Given the description of an element on the screen output the (x, y) to click on. 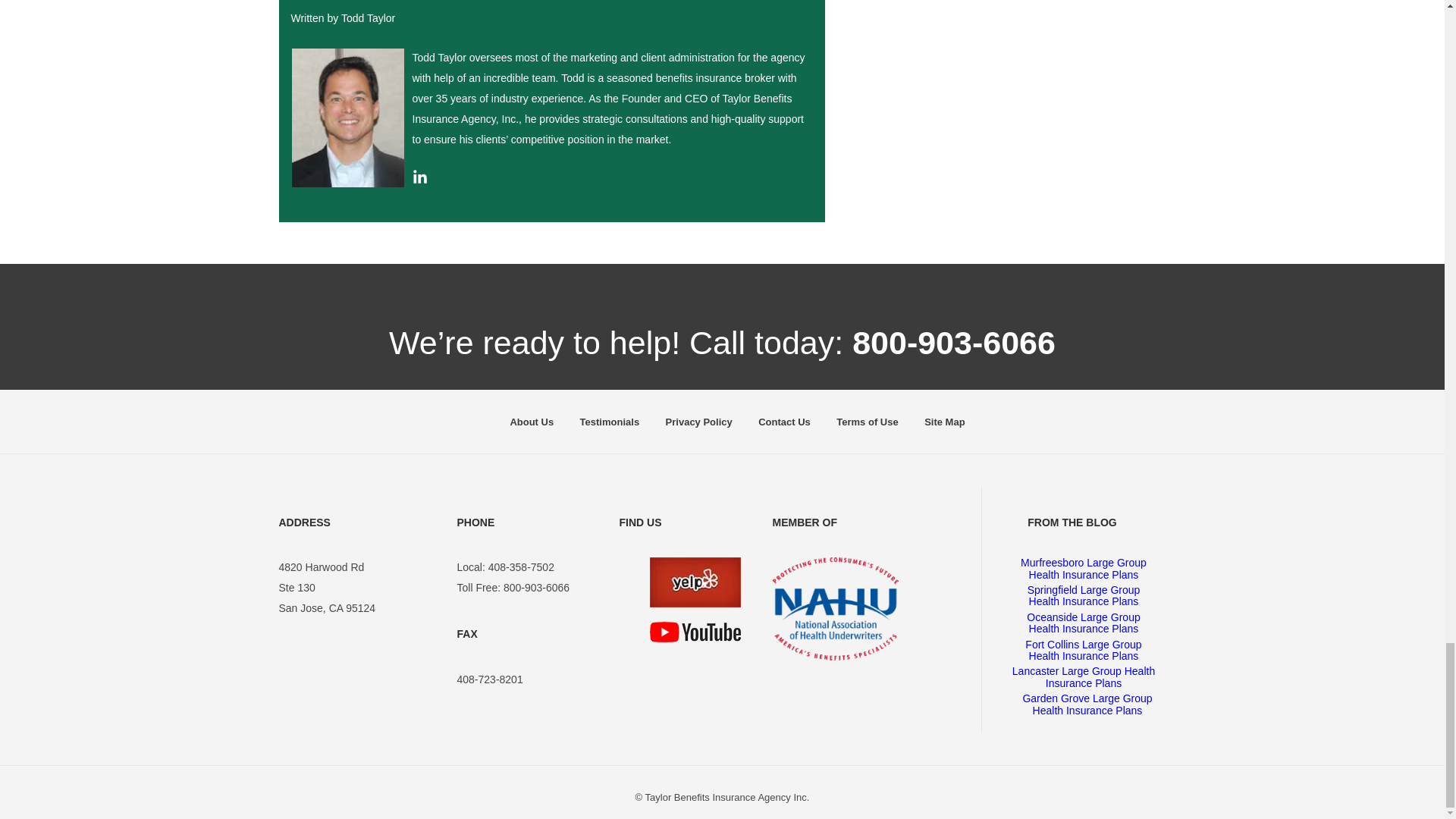
Linkedin (420, 180)
